Given the description of an element on the screen output the (x, y) to click on. 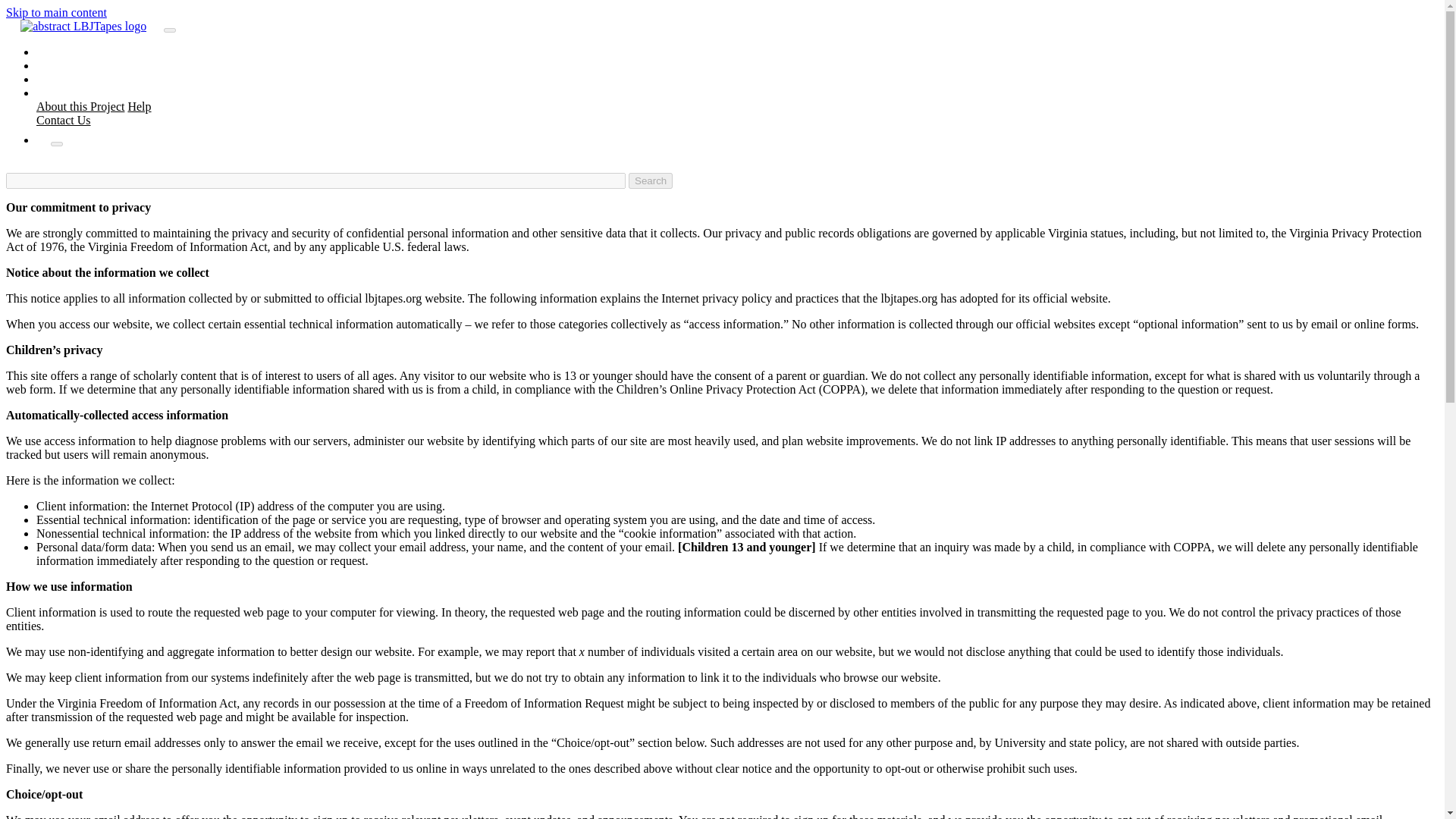
Search Conversations (102, 65)
LBJ Timeline (83, 78)
Help (139, 106)
Search (650, 180)
Navigation (56, 143)
About (65, 92)
Browse Conversations (105, 51)
Contact Us (63, 119)
About this Project (79, 106)
Skip to main content (55, 11)
